Given the description of an element on the screen output the (x, y) to click on. 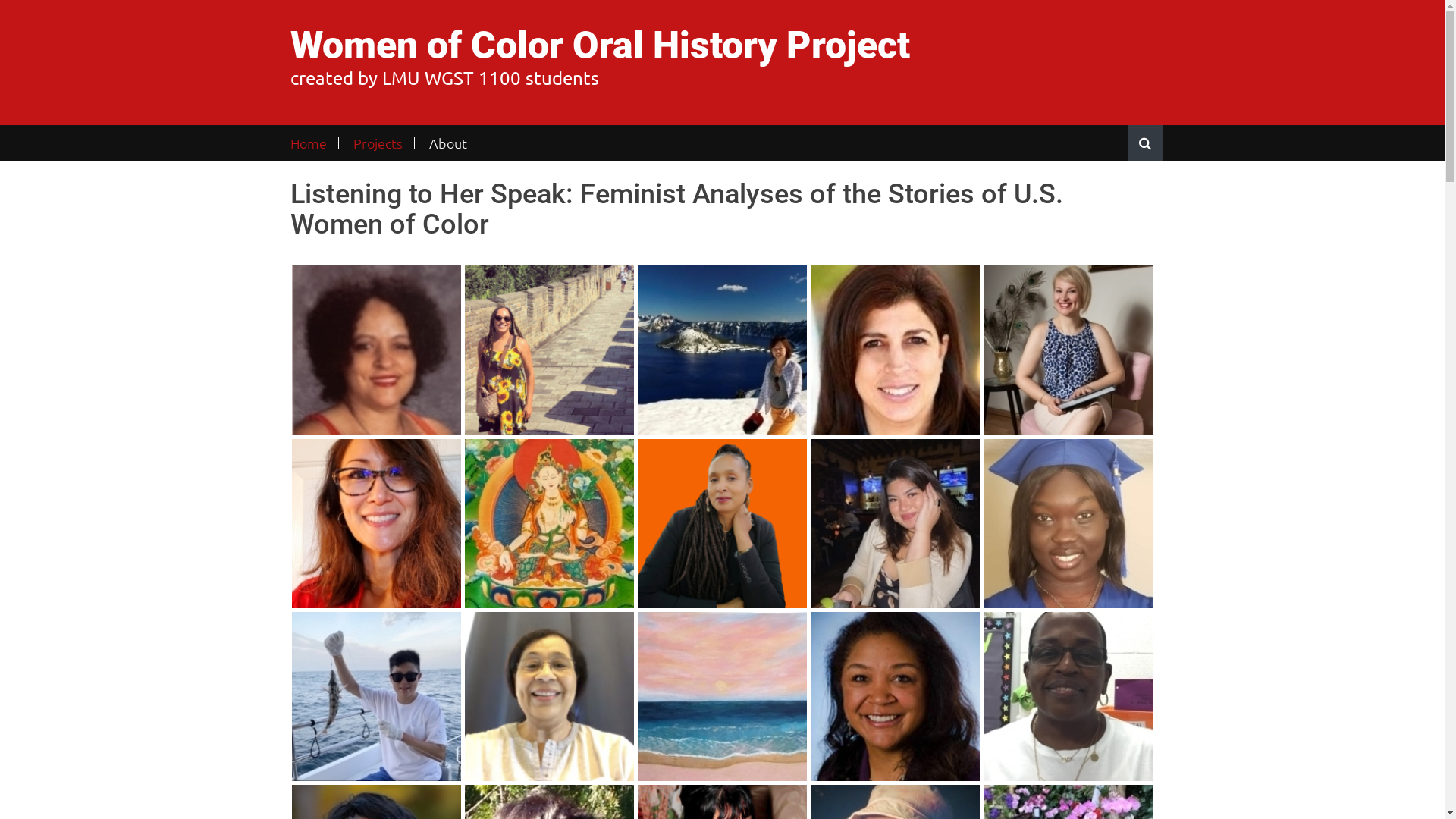
Maddie&#039;s Interview with Erica Thomson Element type: hover (375, 349)
Ryan&#039;s Interview with Sahana  Element type: hover (721, 696)
Alexa&#039;s Interview with Micheline Element type: hover (894, 349)
Home Element type: text (313, 142)
Ethan&#039;s Interview with Li Juan Element type: hover (721, 349)
Marisa&#039;s Interview with Gina Gregory Burns Element type: hover (894, 696)
Women of Color Oral History Project Element type: text (599, 45)
Aker's Interview with Ayoum Element type: hover (1068, 523)
Julia&#039;s Interview with Dr. Nadia Kim Element type: hover (375, 523)
Adelle&#039;s Interview with Jojo  Element type: hover (375, 696)
11 Element type: hover (721, 523)
Emily&#039;s Interview with Izzy Element type: hover (894, 523)
Naz&#039; Interview with Lily Lale Yilmaz Element type: hover (1068, 349)
Paige&#039;s Interview with Karen Element type: hover (548, 523)
Devon&#039;s Interview with Natalie Elizabeth Element type: hover (548, 349)
About Element type: text (447, 142)
Nathan&#039;s Interview with Kerri Element type: hover (548, 696)
Projects Element type: text (377, 142)
